Given the description of an element on the screen output the (x, y) to click on. 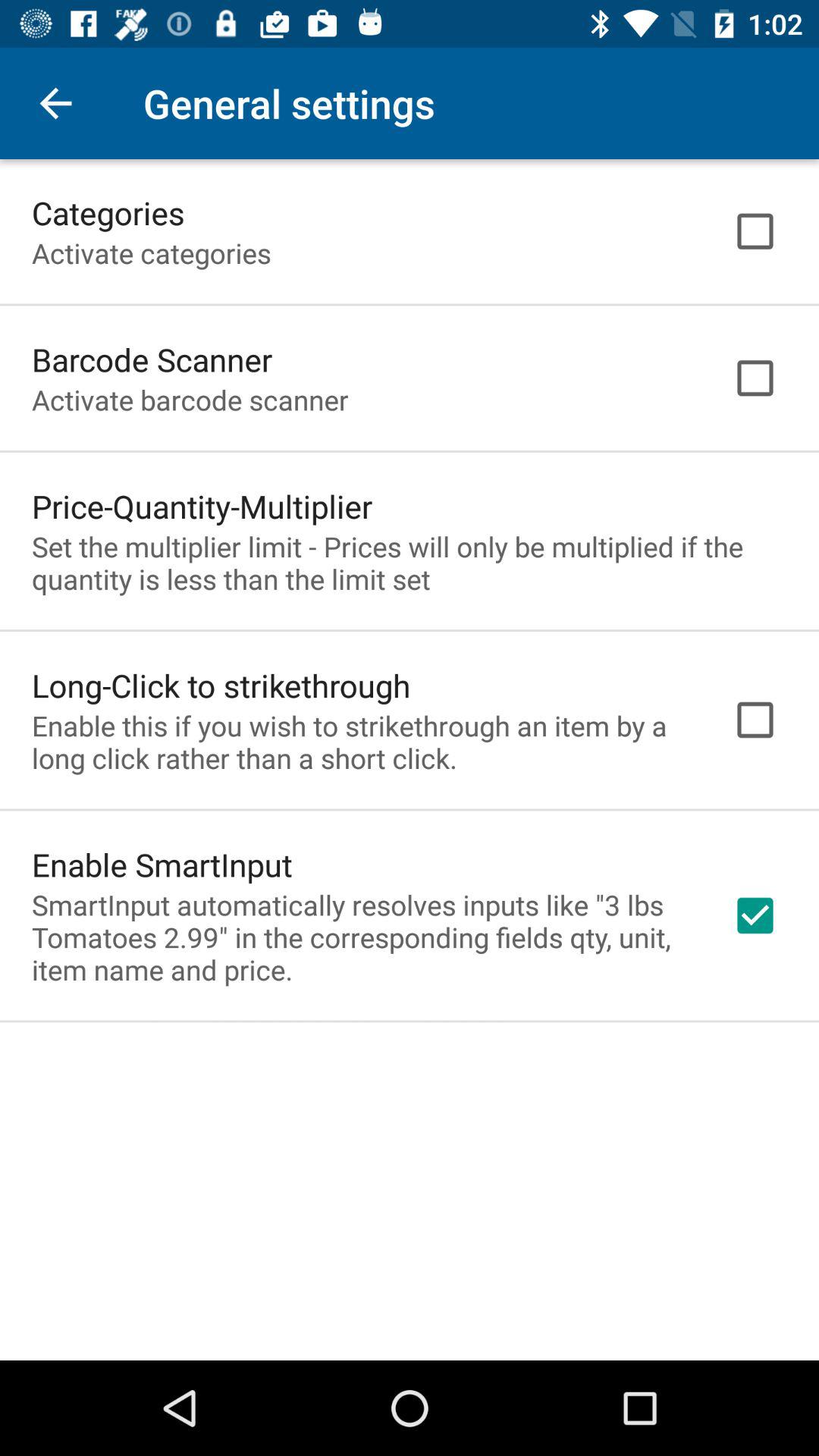
press the item above barcode scanner (151, 252)
